Given the description of an element on the screen output the (x, y) to click on. 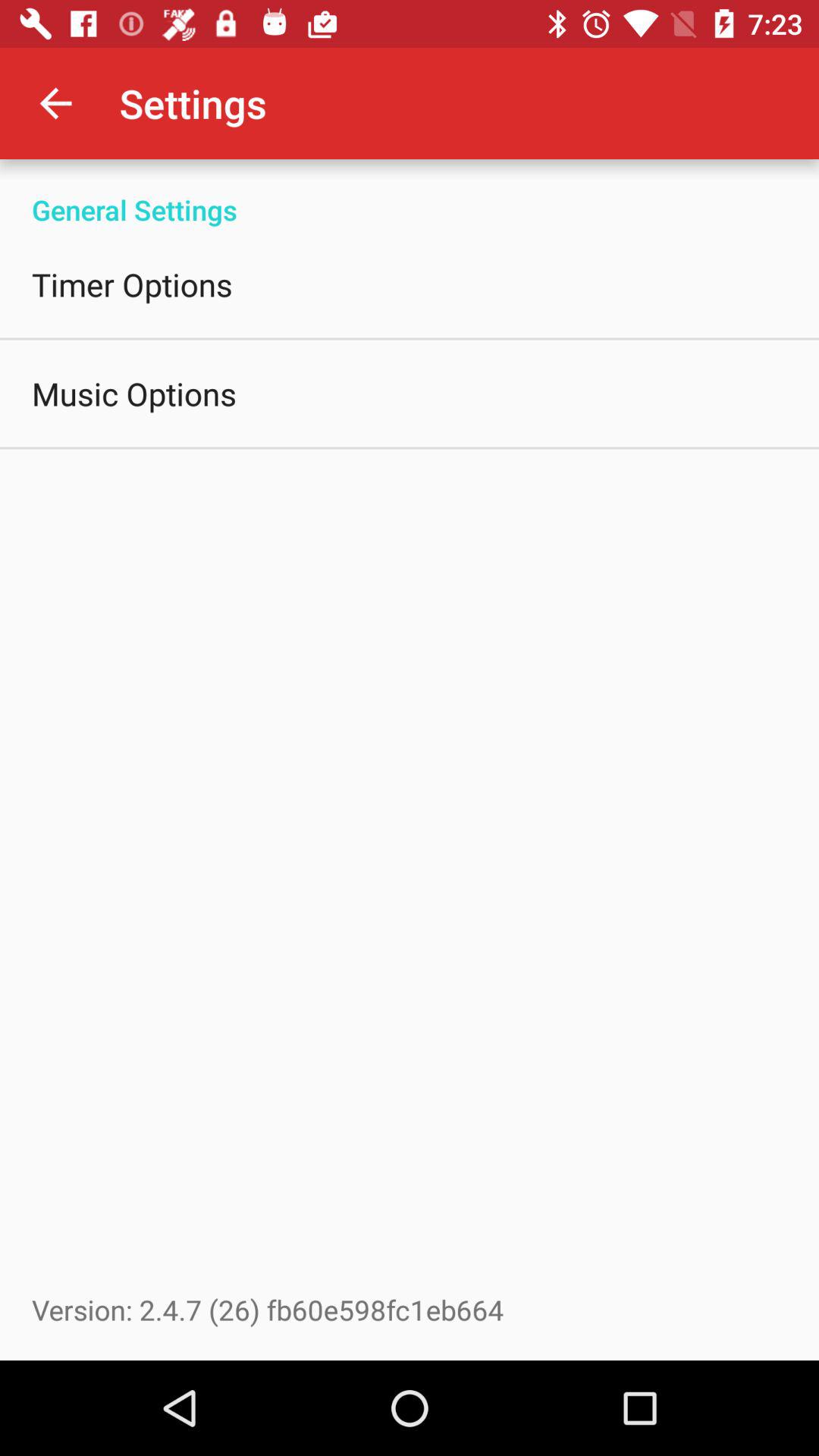
choose the item above the general settings (55, 103)
